Given the description of an element on the screen output the (x, y) to click on. 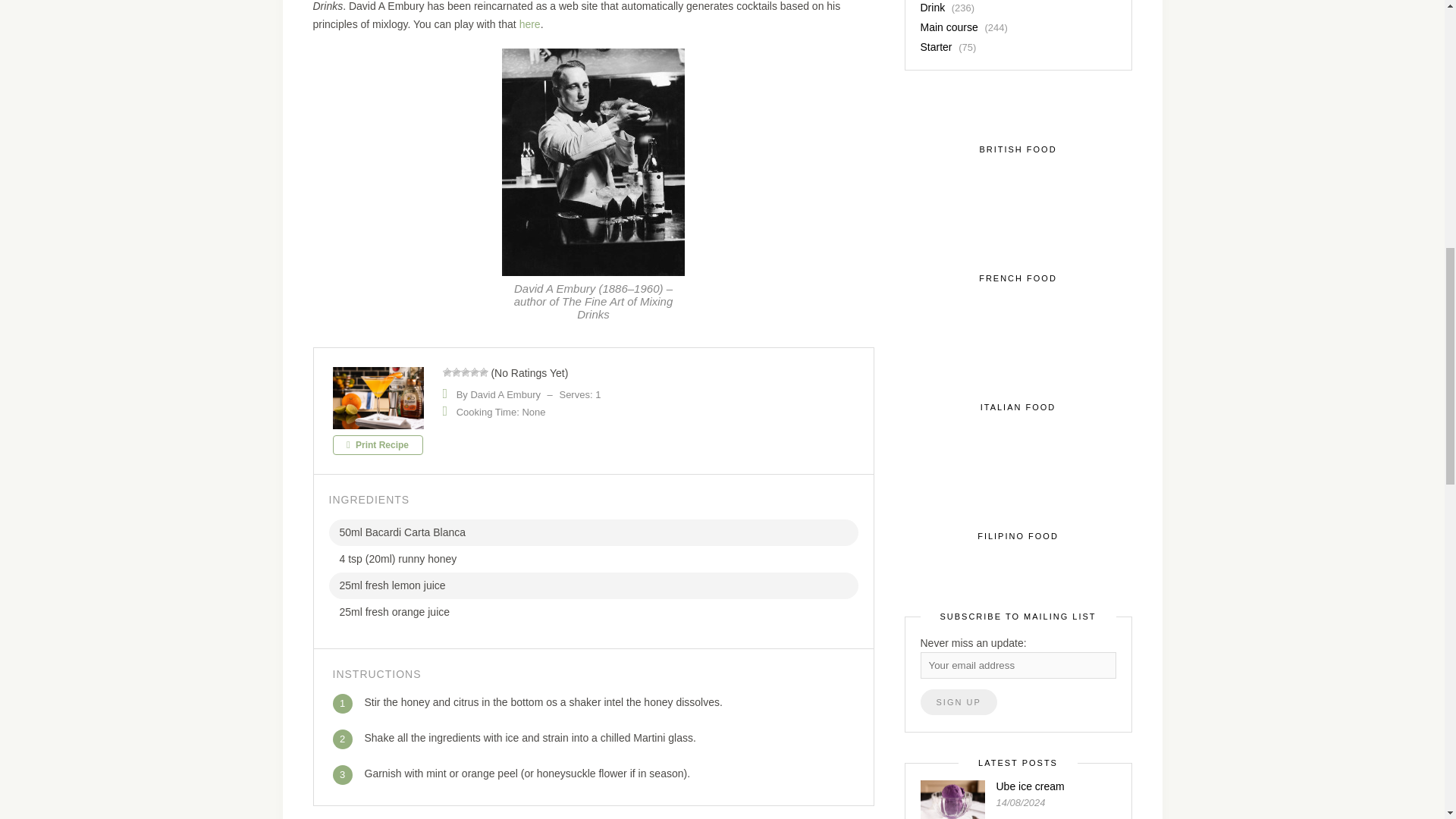
Sign up (958, 701)
here (529, 24)
4 Stars (474, 371)
3 Stars (465, 371)
Print Recipe (376, 444)
1 Star (446, 371)
5 Stars (483, 371)
2 Stars (456, 371)
